Given the description of an element on the screen output the (x, y) to click on. 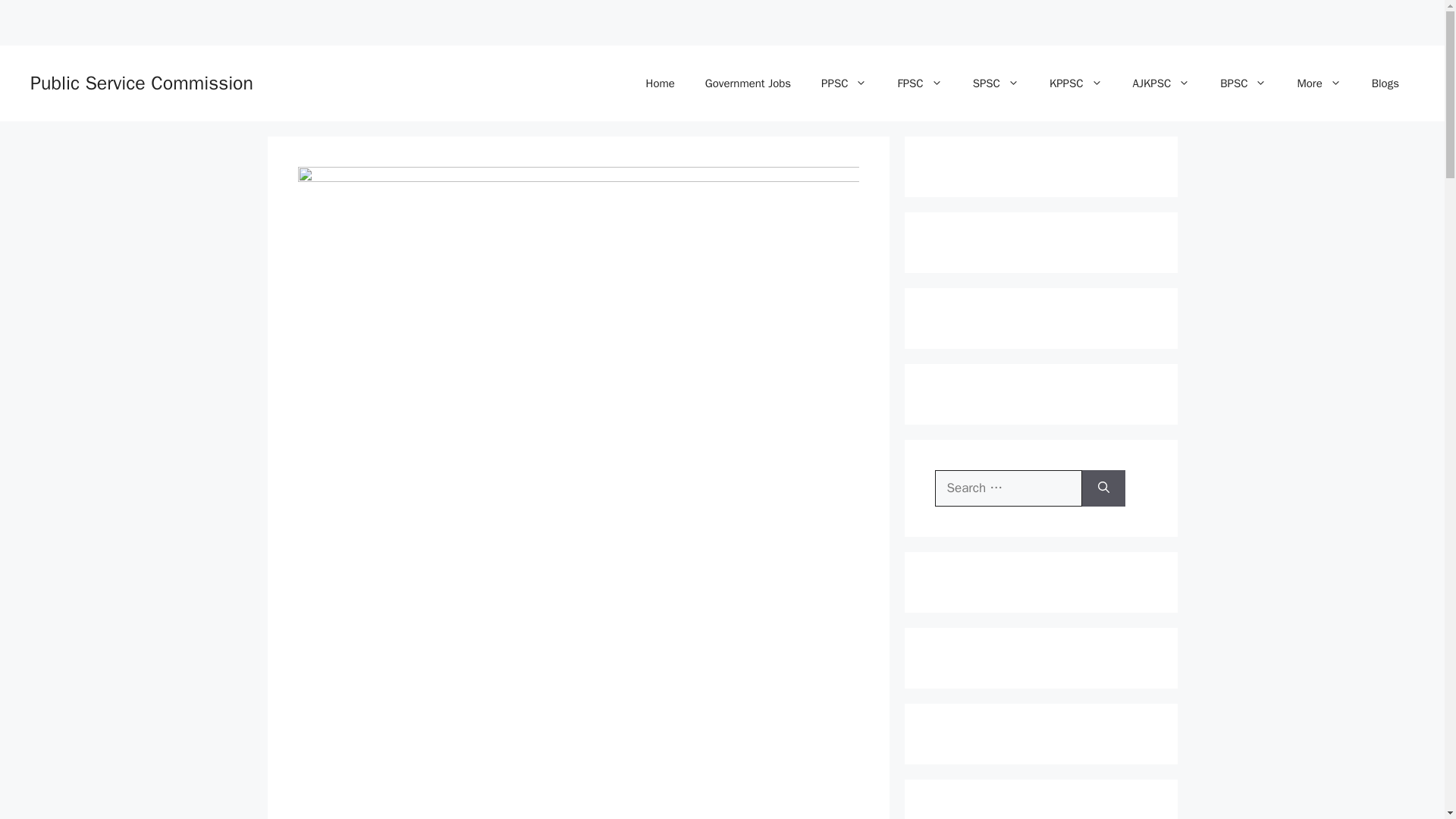
Government Jobs (748, 83)
KPPSC (1075, 83)
Home (660, 83)
PPSC (844, 83)
BPSC (1243, 83)
AJKPSC (1161, 83)
FPSC (919, 83)
Search for: (1007, 488)
SPSC (995, 83)
More (1318, 83)
